Given the description of an element on the screen output the (x, y) to click on. 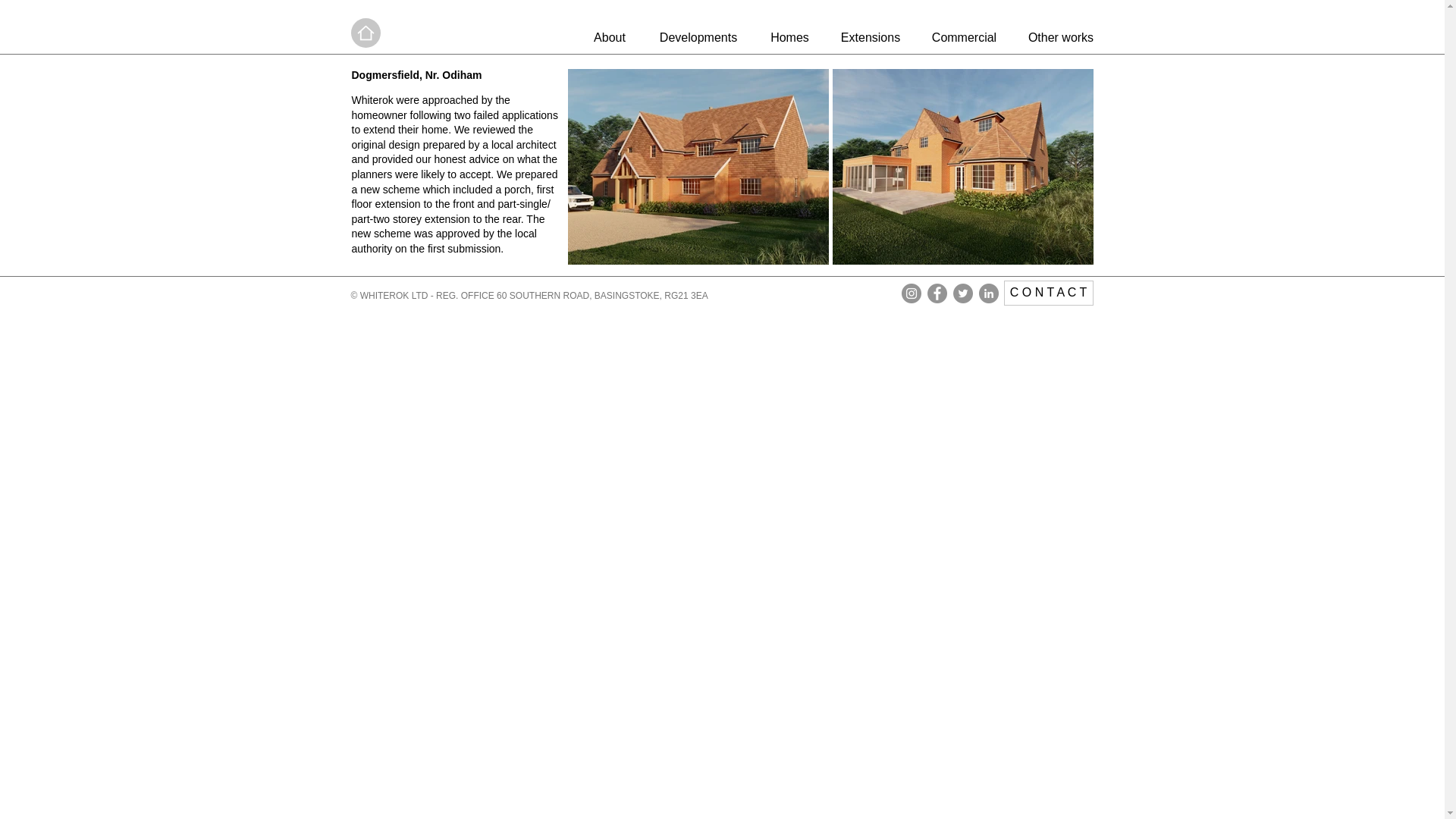
C O N T A C T (1048, 292)
Extensions (870, 37)
Developments (698, 37)
Other works (1061, 37)
Commercial (964, 37)
Homes (789, 37)
About (609, 37)
